Given the description of an element on the screen output the (x, y) to click on. 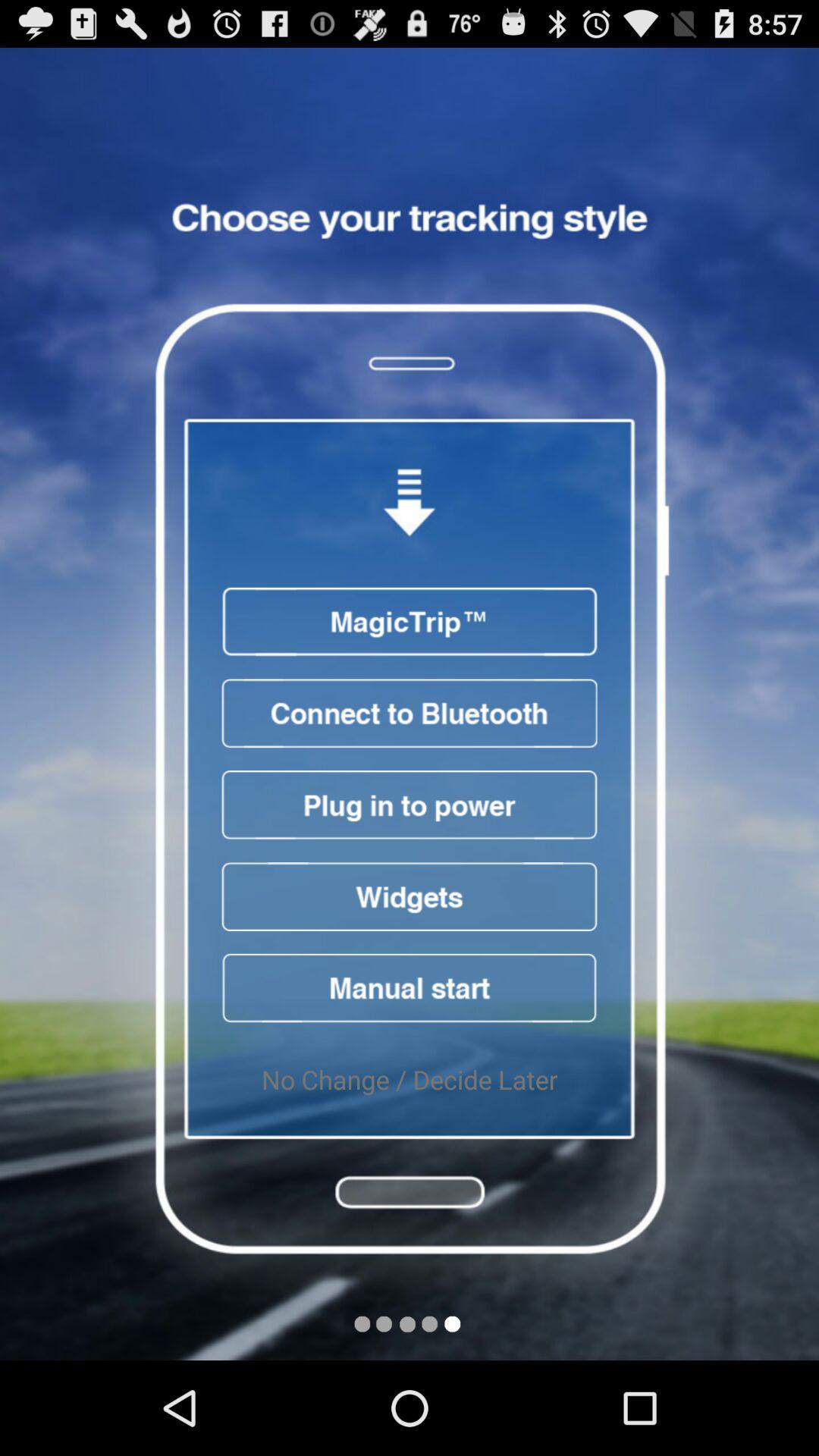
widgets (409, 896)
